Given the description of an element on the screen output the (x, y) to click on. 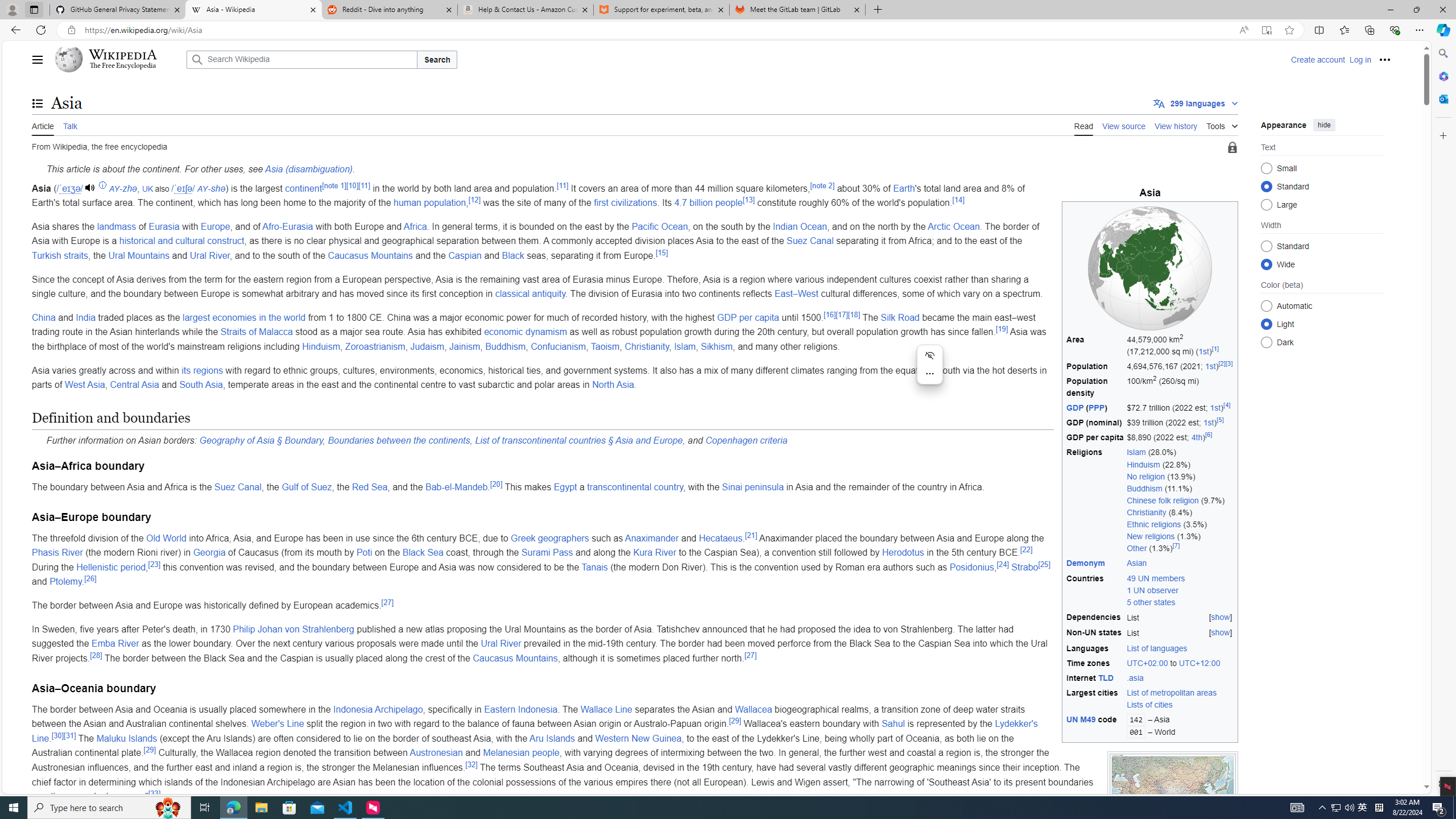
Create account (1317, 58)
Automatic (1266, 305)
Wide (1266, 263)
Suez Canal (238, 486)
[25] (1043, 563)
Ural River (500, 643)
[7] (1176, 545)
historical and cultural construct (181, 240)
Georgia (208, 552)
Page semi-protected (1232, 147)
China (43, 317)
Emba River (114, 643)
West Asia (84, 384)
